Given the description of an element on the screen output the (x, y) to click on. 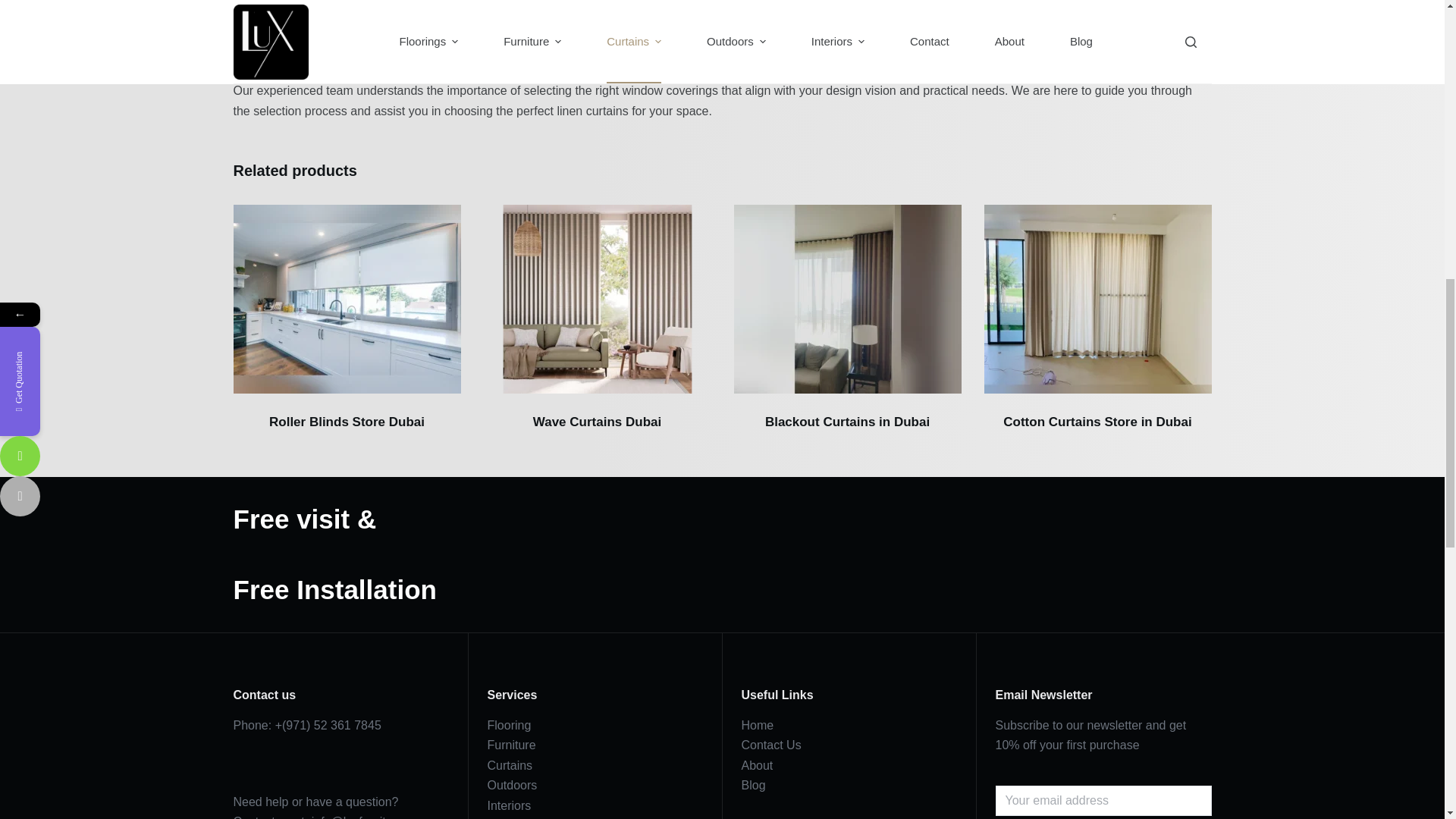
black out curtains (846, 298)
Wave Curtains (597, 298)
Cotton curtains (1097, 298)
